Given the description of an element on the screen output the (x, y) to click on. 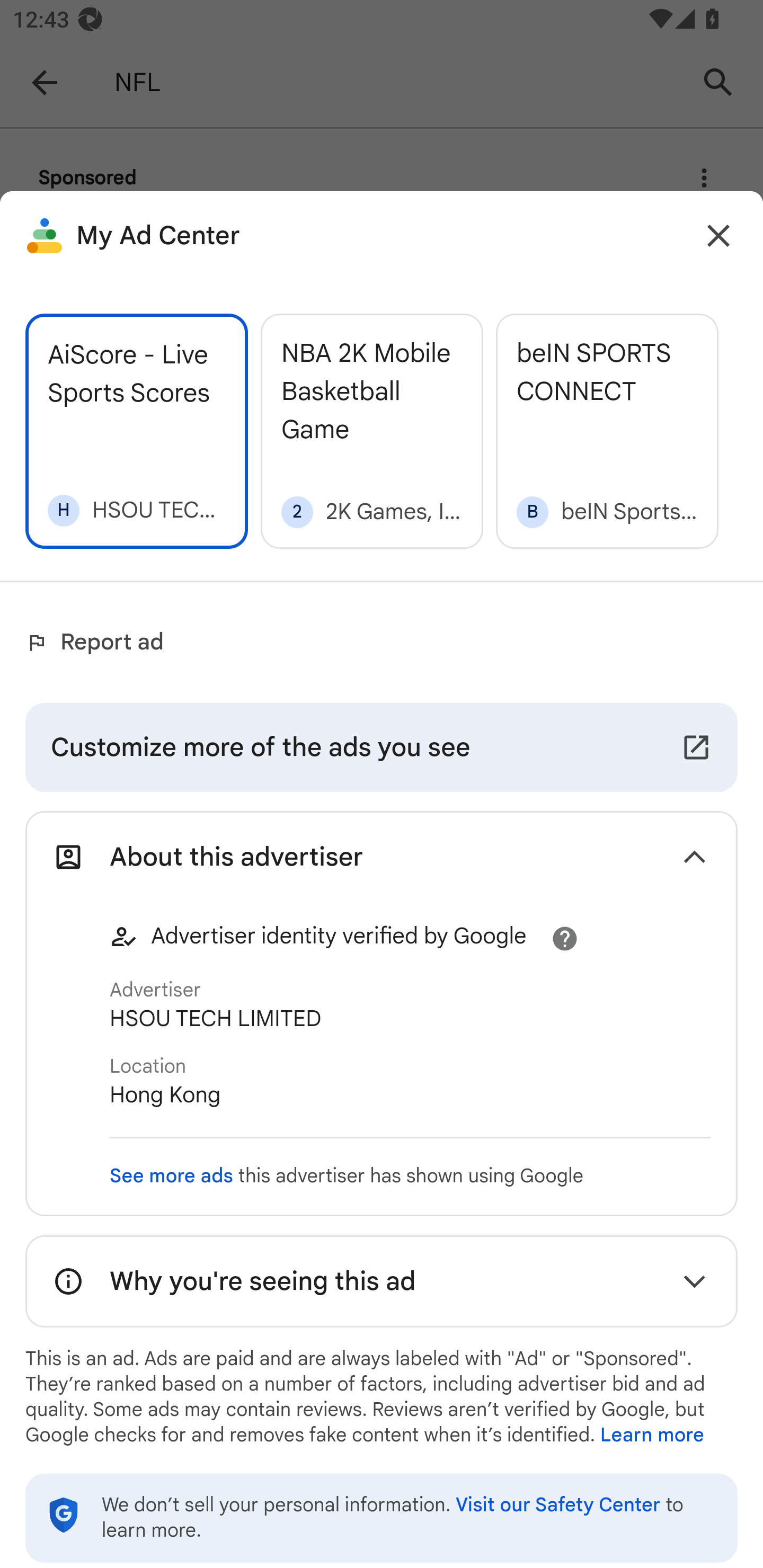
Close (718, 235)
Report ad (opens in new tab) Report ad (98, 642)
About this advertiser (381, 856)
See more ads (opens in new tab) See more ads (171, 1175)
Why you're seeing this ad (381, 1281)
Learn more (opens in new tab) Learn more (651, 1435)
